Given the description of an element on the screen output the (x, y) to click on. 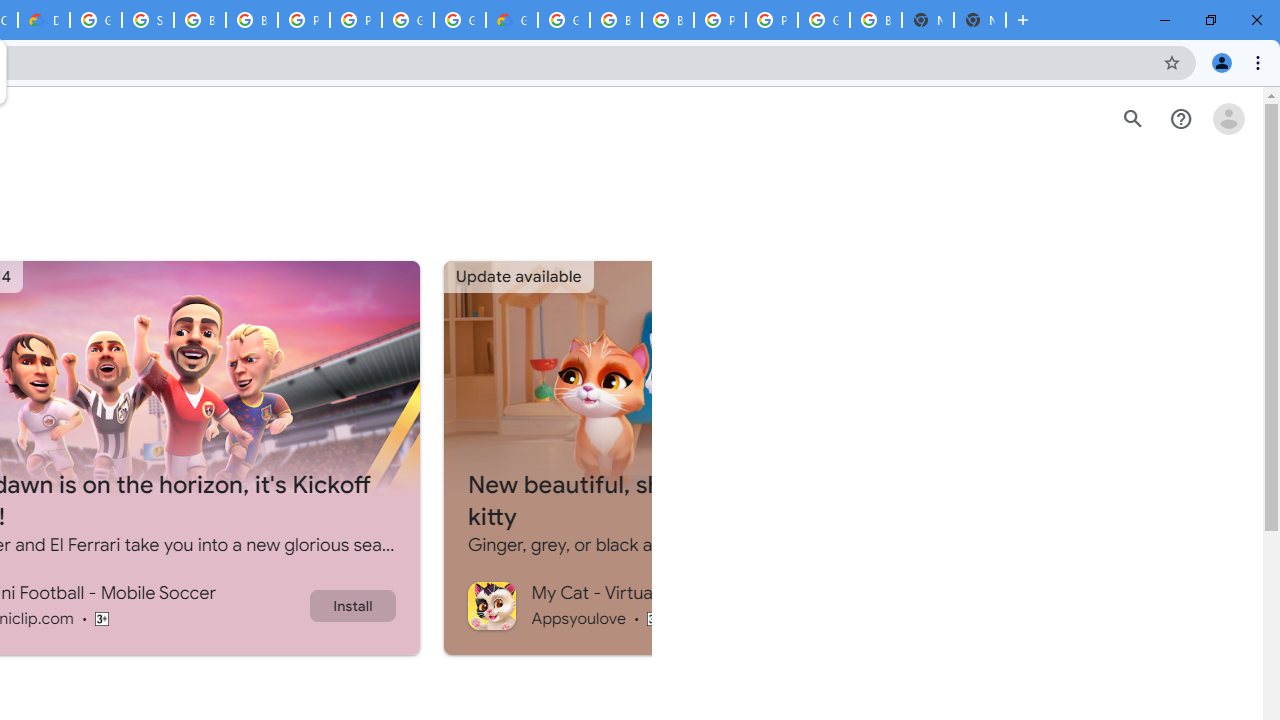
Google Cloud Platform (459, 20)
Browse Chrome as a guest - Computer - Google Chrome Help (200, 20)
Content rating Rated for 3+ (653, 618)
Browse Chrome as a guest - Computer - Google Chrome Help (251, 20)
Install (351, 605)
Google Cloud Platform (563, 20)
